Given the description of an element on the screen output the (x, y) to click on. 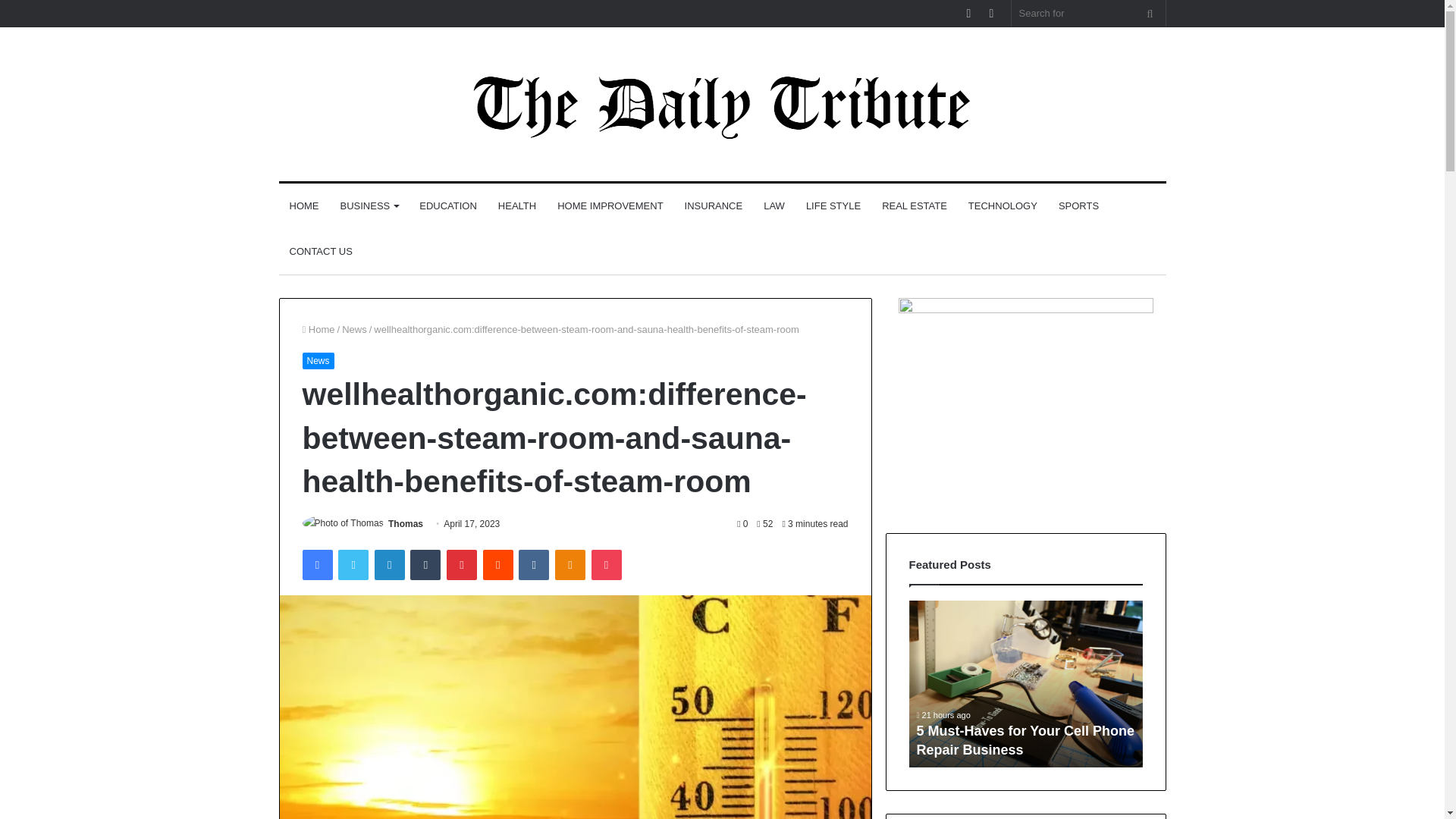
CONTACT US (320, 251)
VKontakte (533, 564)
TECHNOLOGY (1003, 206)
Pinterest (461, 564)
BUSINESS (369, 206)
SPORTS (1078, 206)
LinkedIn (389, 564)
Reddit (498, 564)
Twitter (352, 564)
Reddit (498, 564)
HOME (304, 206)
The Daily Tribute (722, 104)
Tumblr (425, 564)
INSURANCE (714, 206)
News (354, 328)
